Given the description of an element on the screen output the (x, y) to click on. 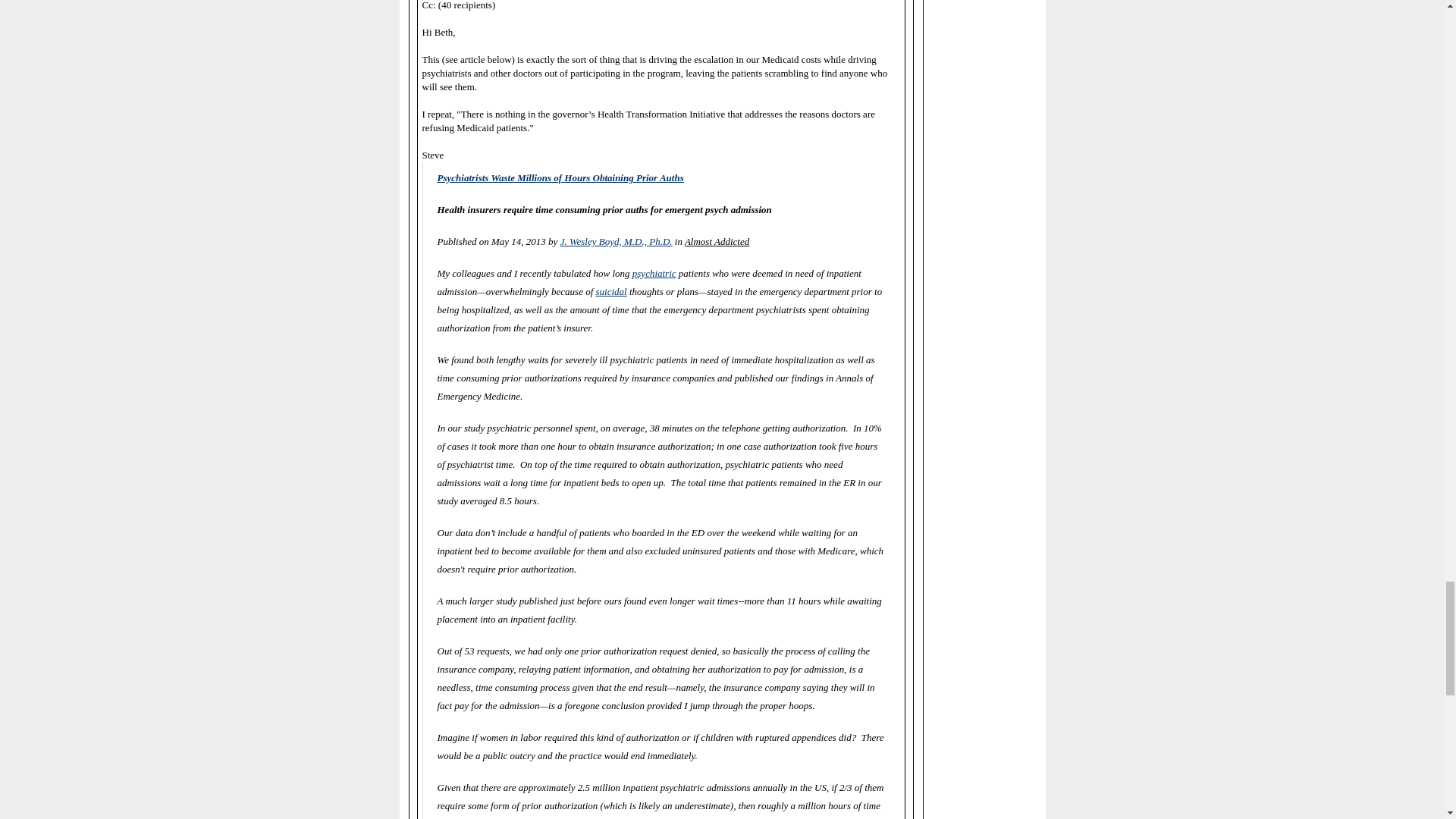
Almost Addicted (716, 240)
psychiatric (654, 272)
J. Wesley Boyd, M.D., Ph.D. (616, 240)
Psychiatrists Waste Millions of Hours Obtaining Prior Auths (559, 177)
suicidal (611, 290)
